Given the description of an element on the screen output the (x, y) to click on. 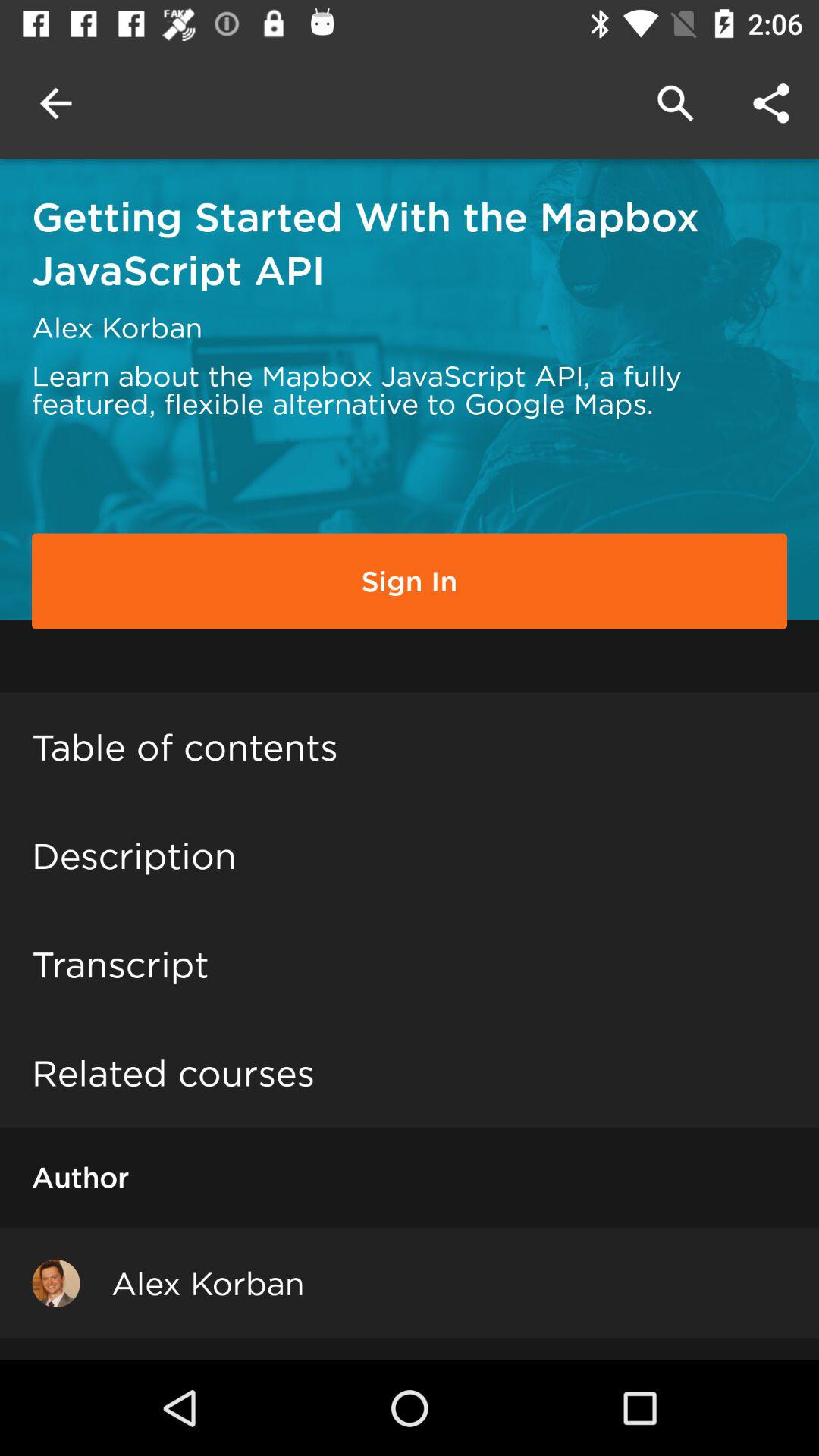
launch icon next to the alex korban icon (55, 1282)
